Given the description of an element on the screen output the (x, y) to click on. 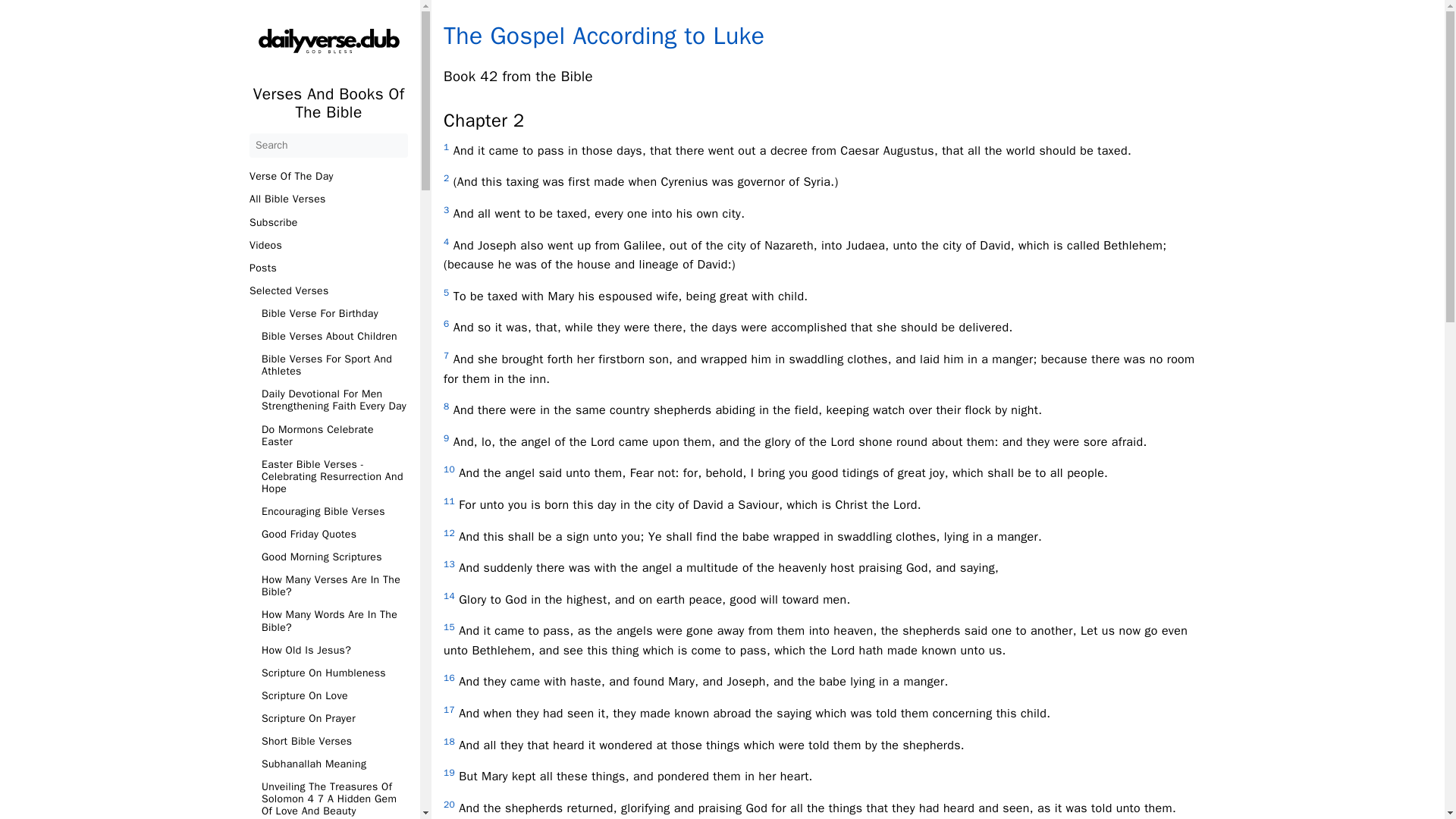
Subhanallah Meaning (333, 764)
Bible Verses For Sport And Athletes (333, 364)
Posts (327, 268)
All Bible Verses (327, 199)
Good Morning Scriptures (333, 557)
Scripture On Prayer (333, 718)
Do Mormons Celebrate Easter (333, 435)
Good Friday Quotes (333, 534)
How Many Verses Are In The Bible? (333, 586)
